Given the description of an element on the screen output the (x, y) to click on. 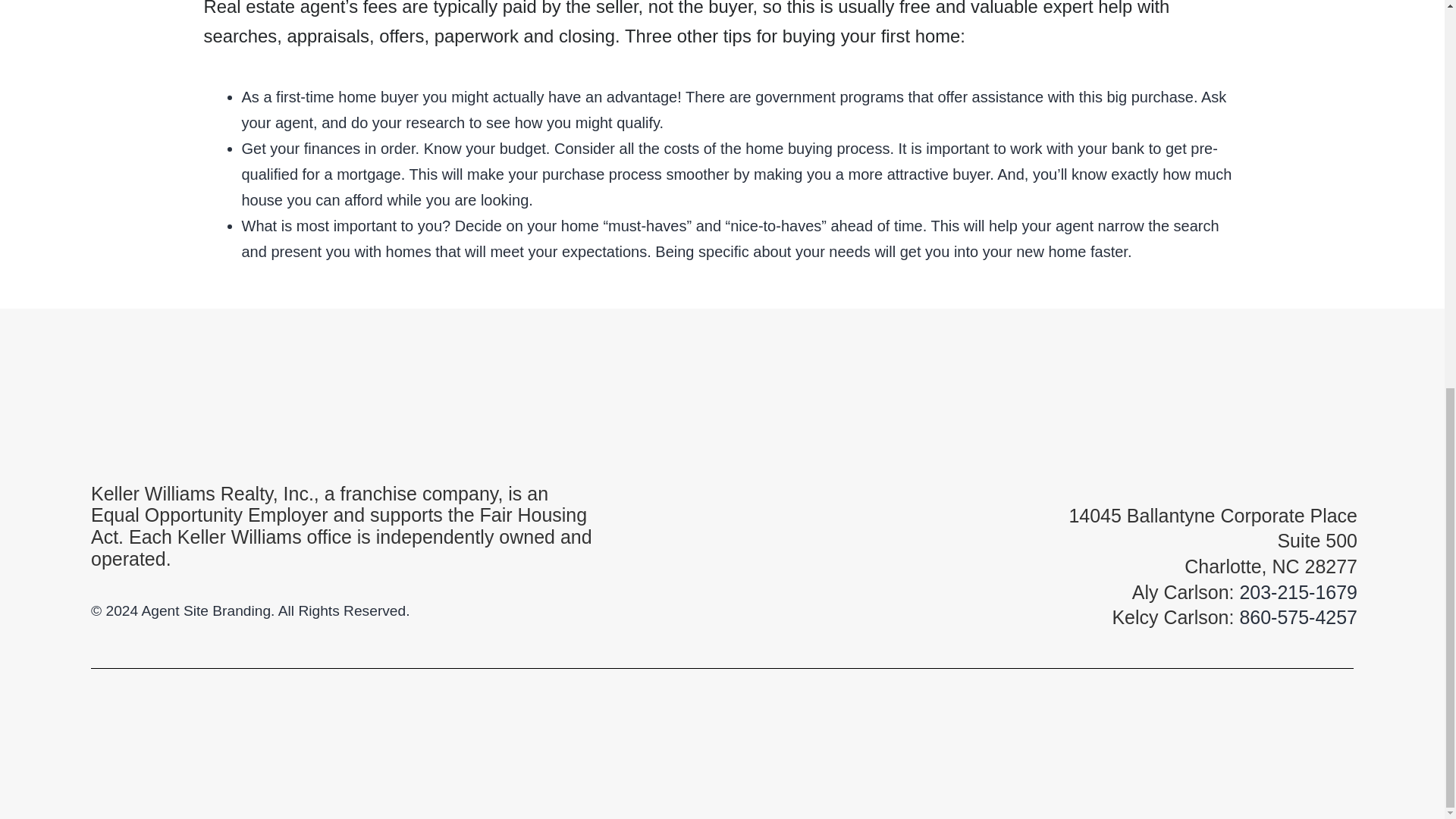
Agent Site Branding. (208, 610)
203-215-1679 (1297, 591)
860-575-4257 (1297, 617)
